Given the description of an element on the screen output the (x, y) to click on. 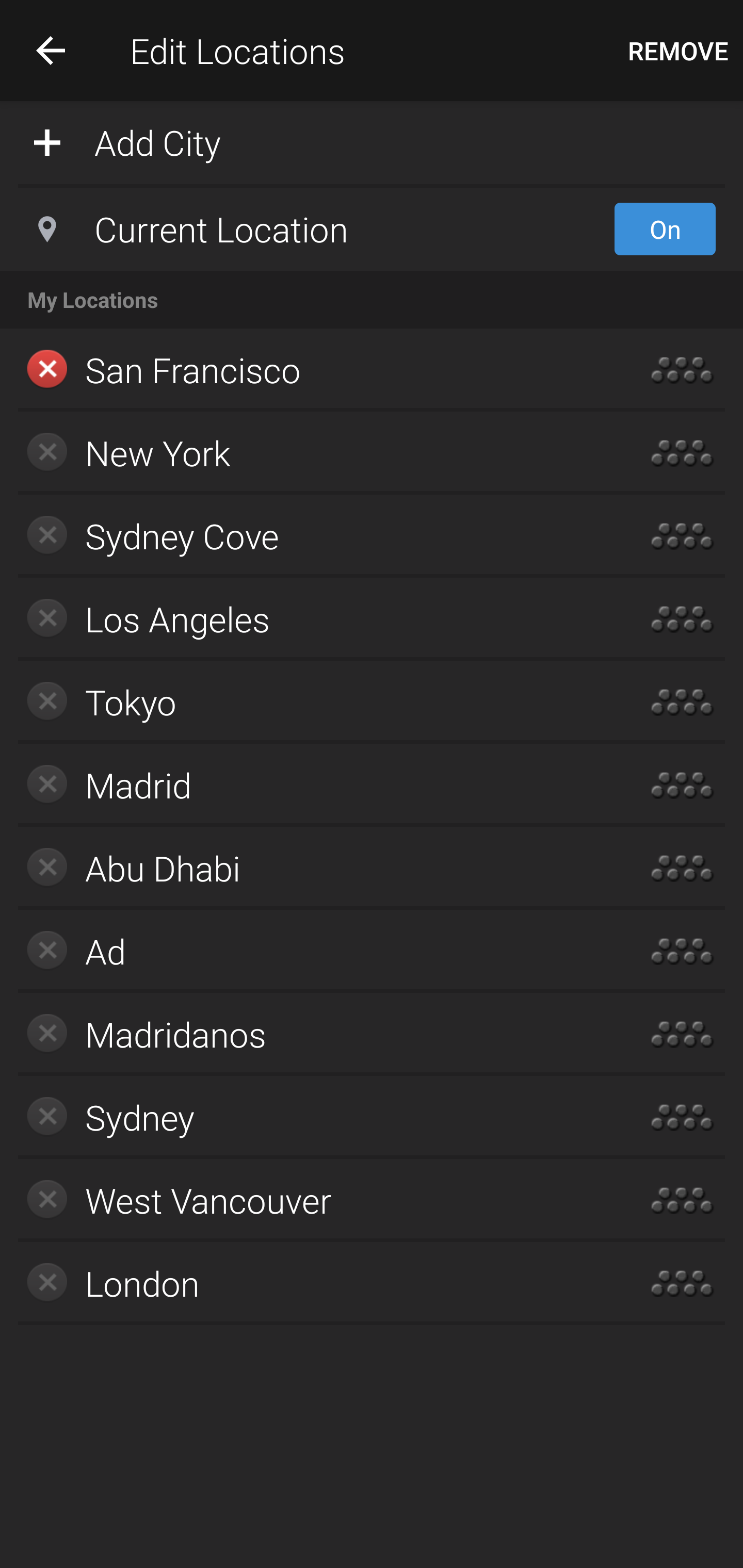
Navigate up (50, 50)
REMOVE (677, 50)
Add City (371, 141)
Current Location: On Current Location On (371, 229)
Delete: San Francisco: Selected San Francisco (311, 369)
Delete: New York New York (311, 452)
Delete: Sydney Cove Sydney Cove (311, 535)
Delete: Los Angeles Los Angeles (311, 618)
Delete: Tokyo Tokyo (311, 701)
Delete: Madrid Madrid (311, 784)
Delete: Abu Dhabi Abu Dhabi (311, 867)
Delete: Ad Ad (311, 950)
Delete: Madridanos Madridanos (311, 1033)
Delete: Sydney Sydney (311, 1116)
Delete: West Vancouver West Vancouver (311, 1200)
Delete: London London (311, 1283)
